Given the description of an element on the screen output the (x, y) to click on. 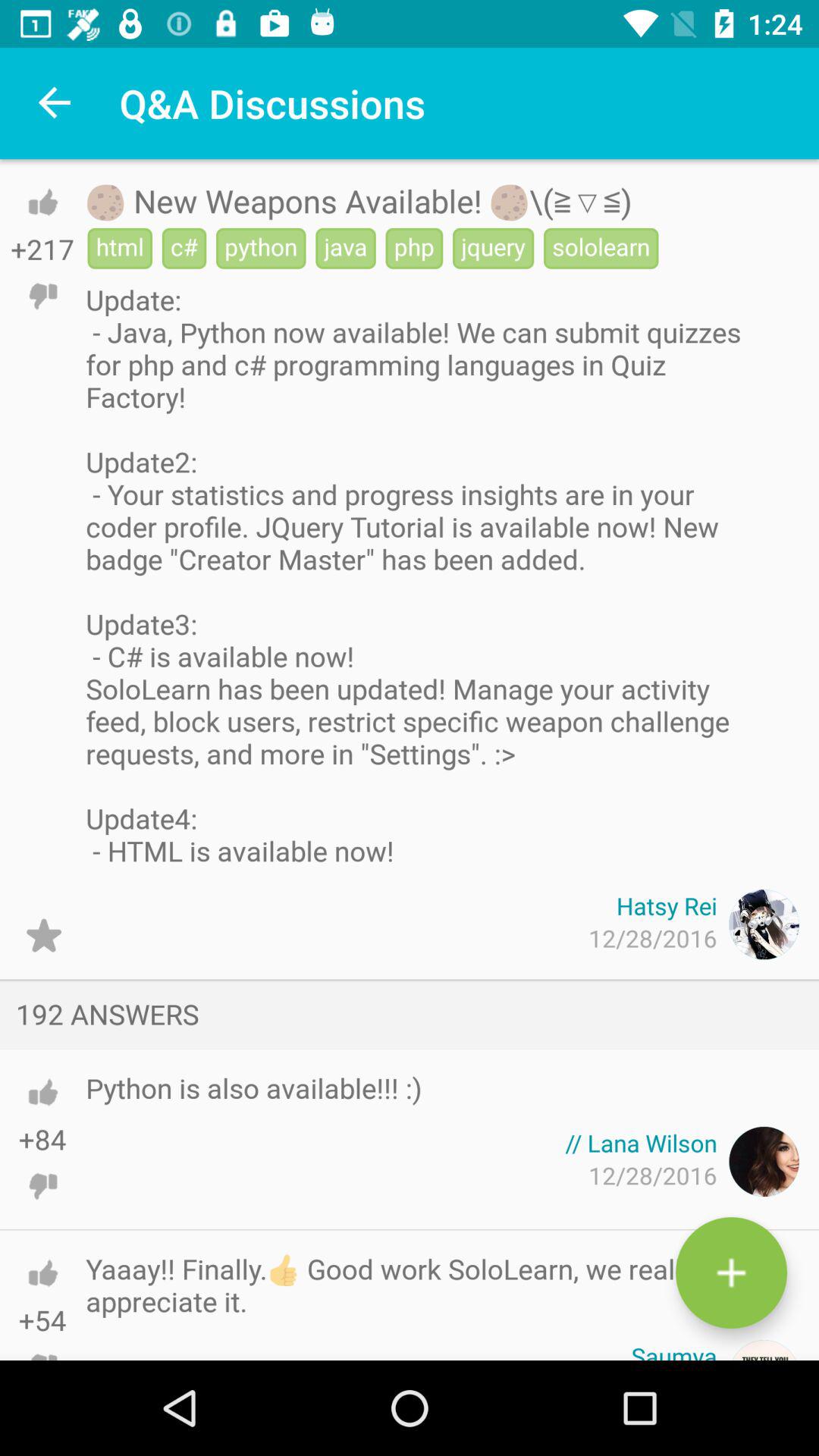
thumbs up (42, 1273)
